Given the description of an element on the screen output the (x, y) to click on. 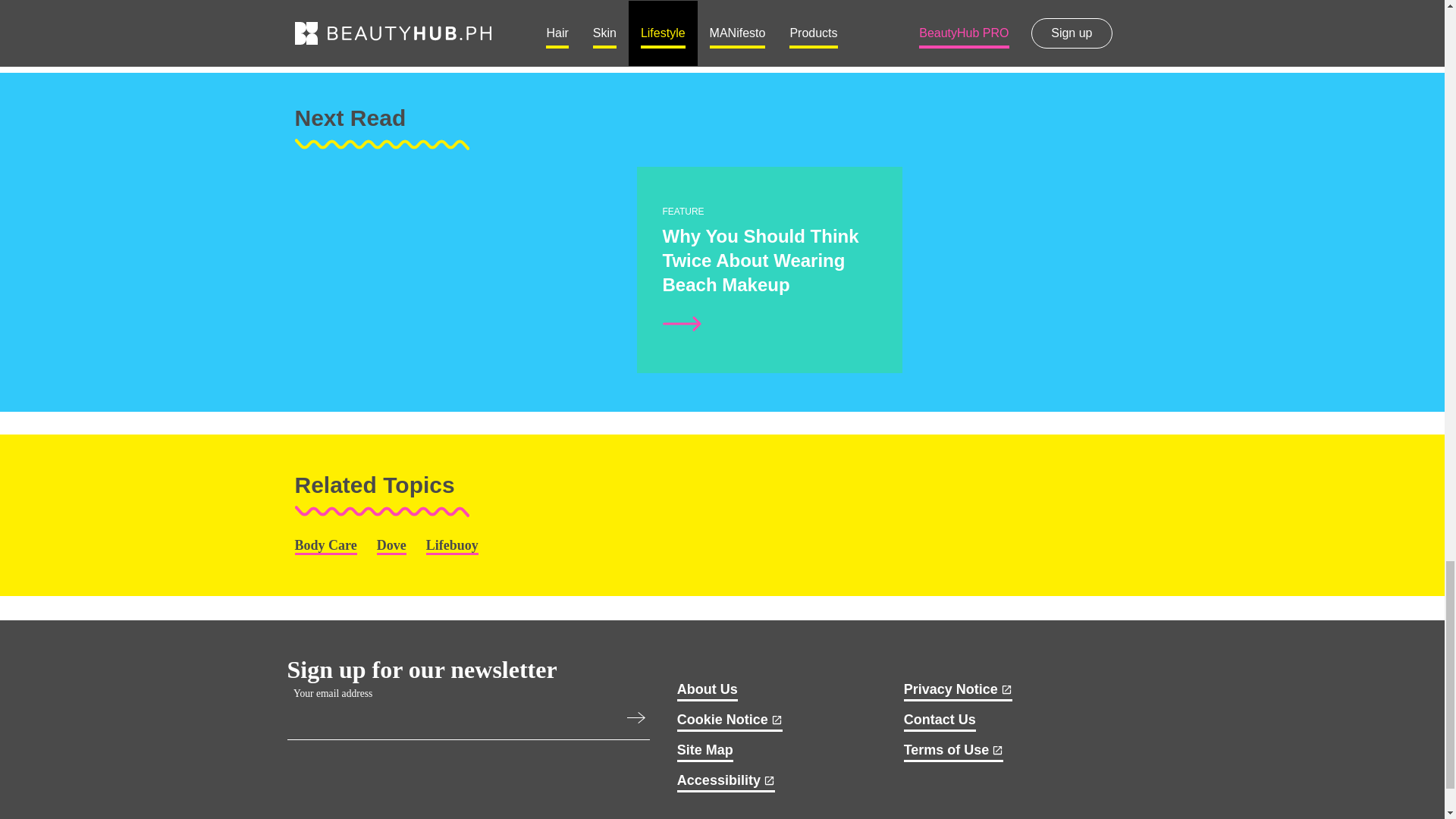
Click to see Article details (487, 365)
Click to see Article details (682, 323)
Terms of Use - Link opens in a new window (954, 751)
Accessibility - Link opens in a new window (725, 781)
Please enter a valid email (638, 720)
Privacy Notice - Link opens in a new window (957, 690)
Cookie Notice - Link opens in a new window (730, 721)
